Given the description of an element on the screen output the (x, y) to click on. 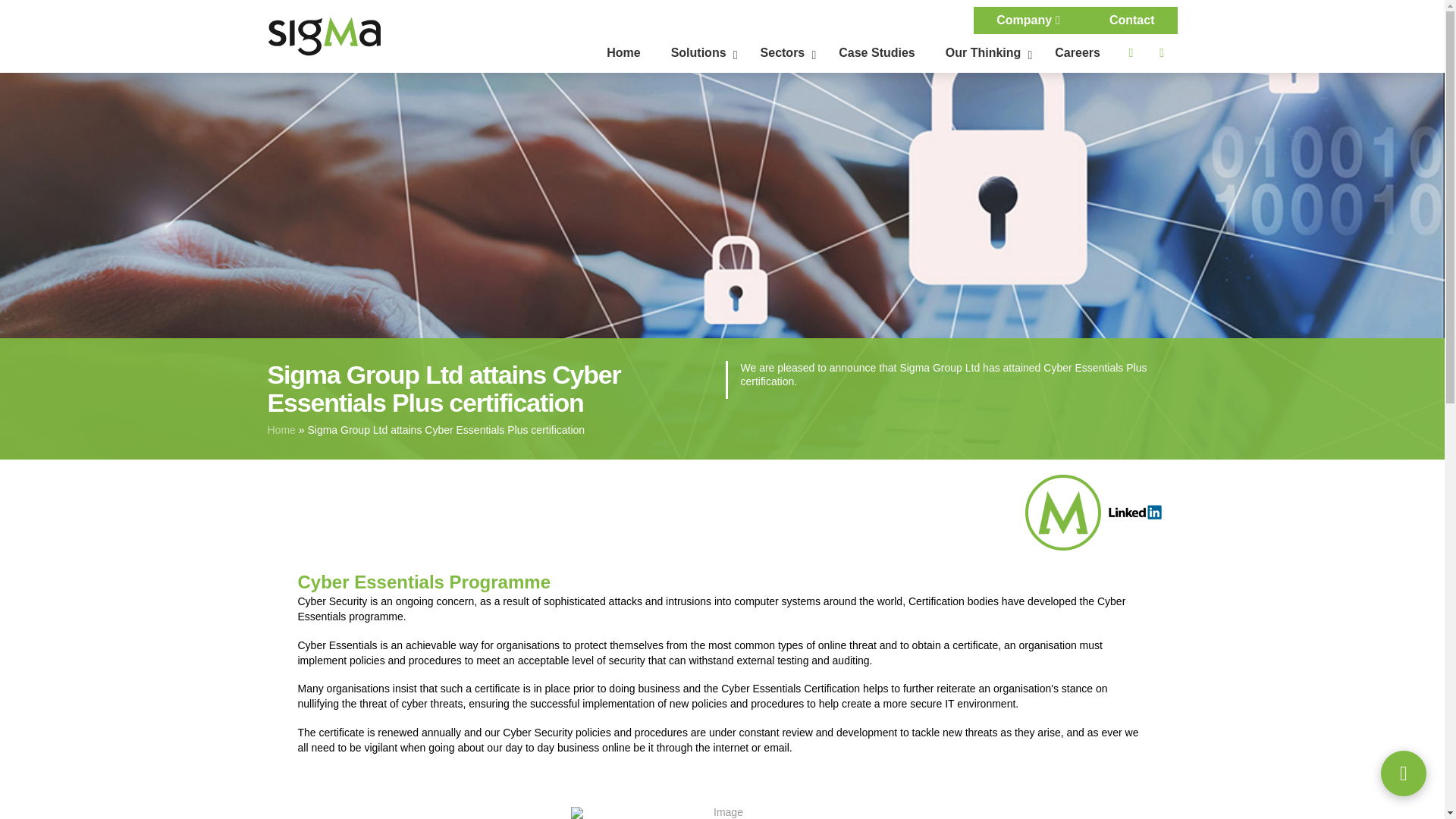
Home (280, 429)
Twitter (1130, 53)
Contact (1131, 20)
Home (623, 53)
Careers (1077, 53)
Linkedin (1162, 53)
Company (1030, 20)
Solutions (700, 53)
Case Studies (883, 53)
Our Thinking (877, 53)
